Given the description of an element on the screen output the (x, y) to click on. 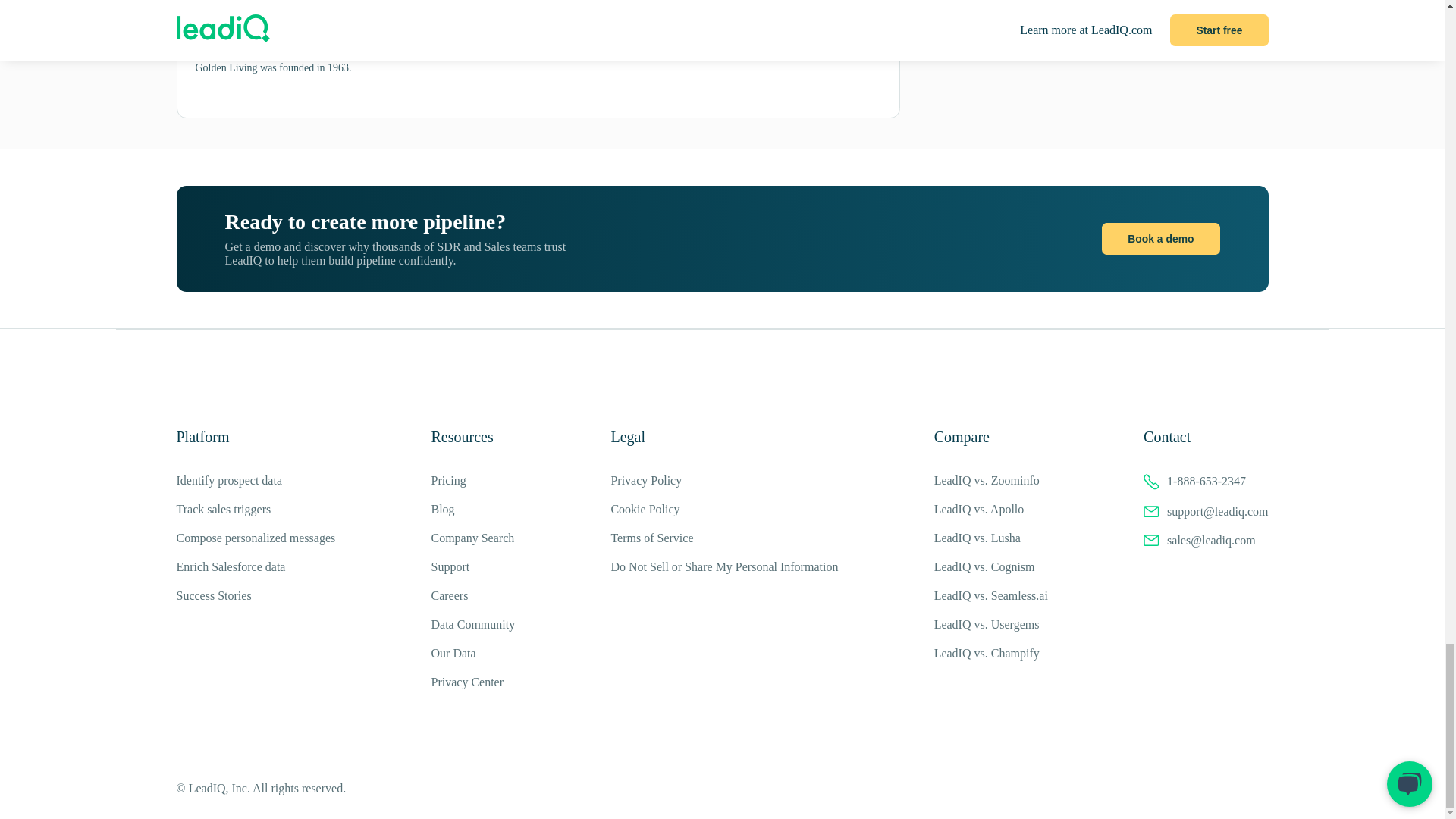
Find more Golden Living email formats (547, 1)
